Given the description of an element on the screen output the (x, y) to click on. 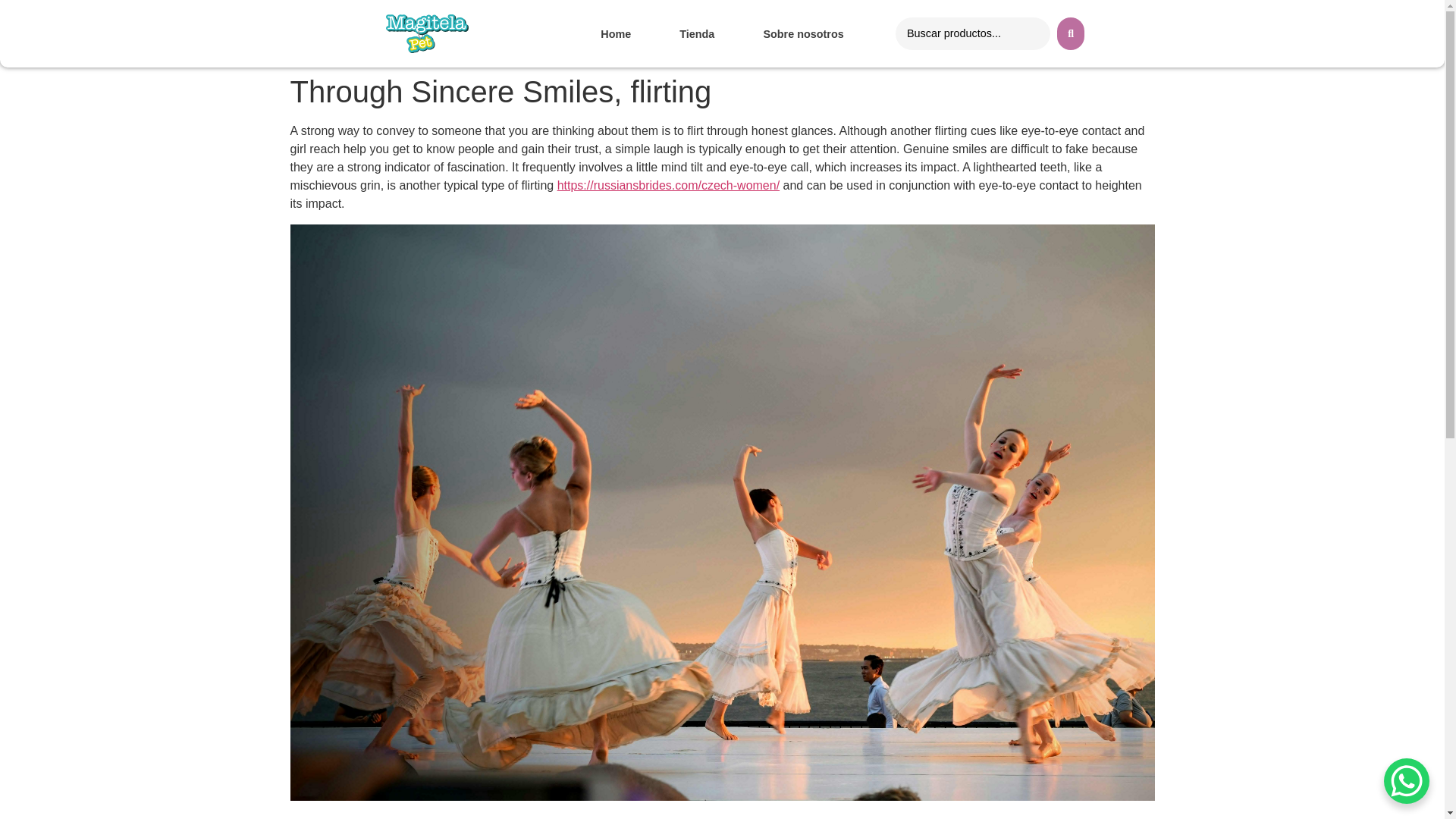
Tienda (696, 33)
Home (615, 33)
Sobre nosotros (803, 33)
